Given the description of an element on the screen output the (x, y) to click on. 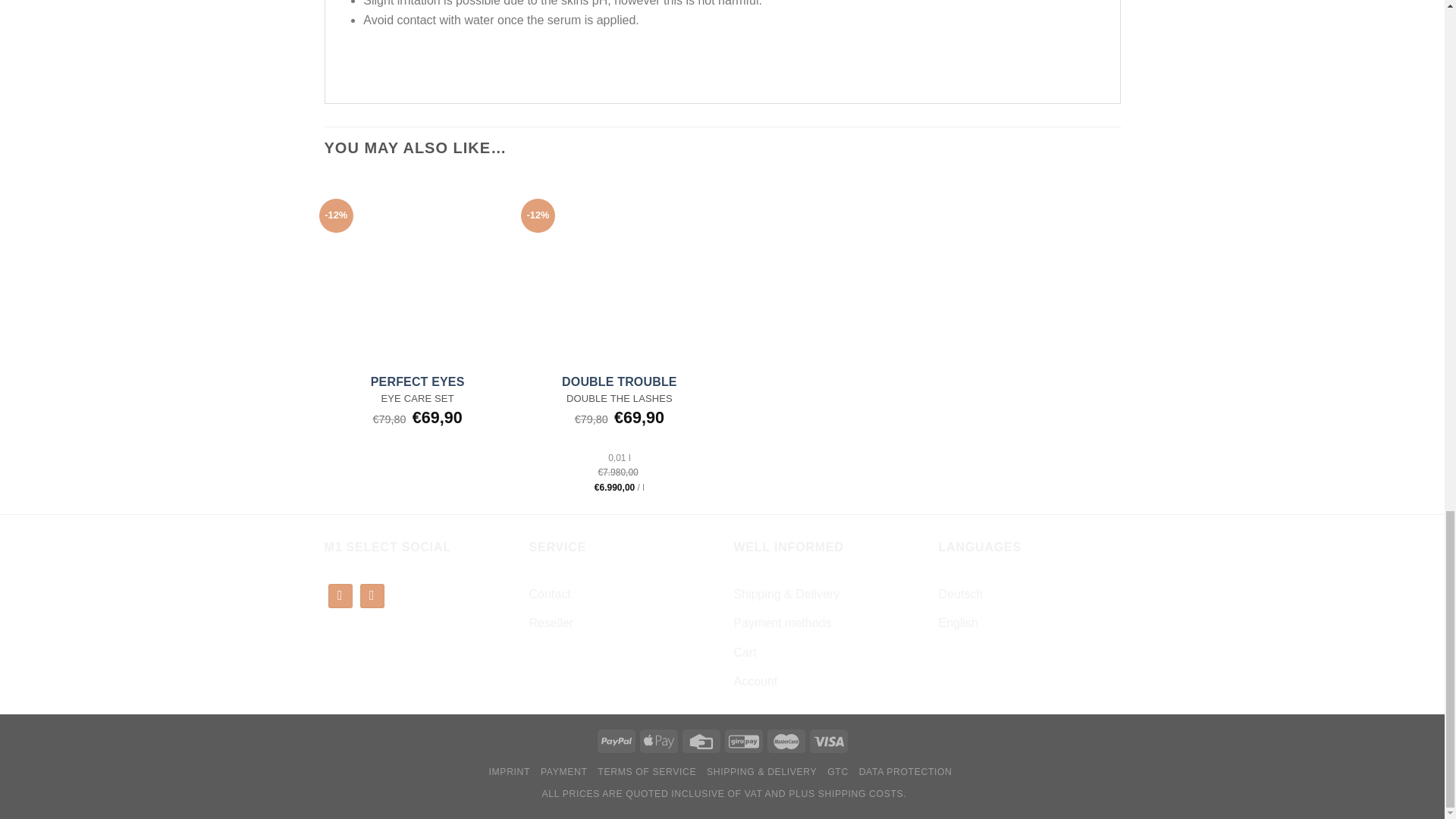
M1 Select Facebook (339, 596)
